Given the description of an element on the screen output the (x, y) to click on. 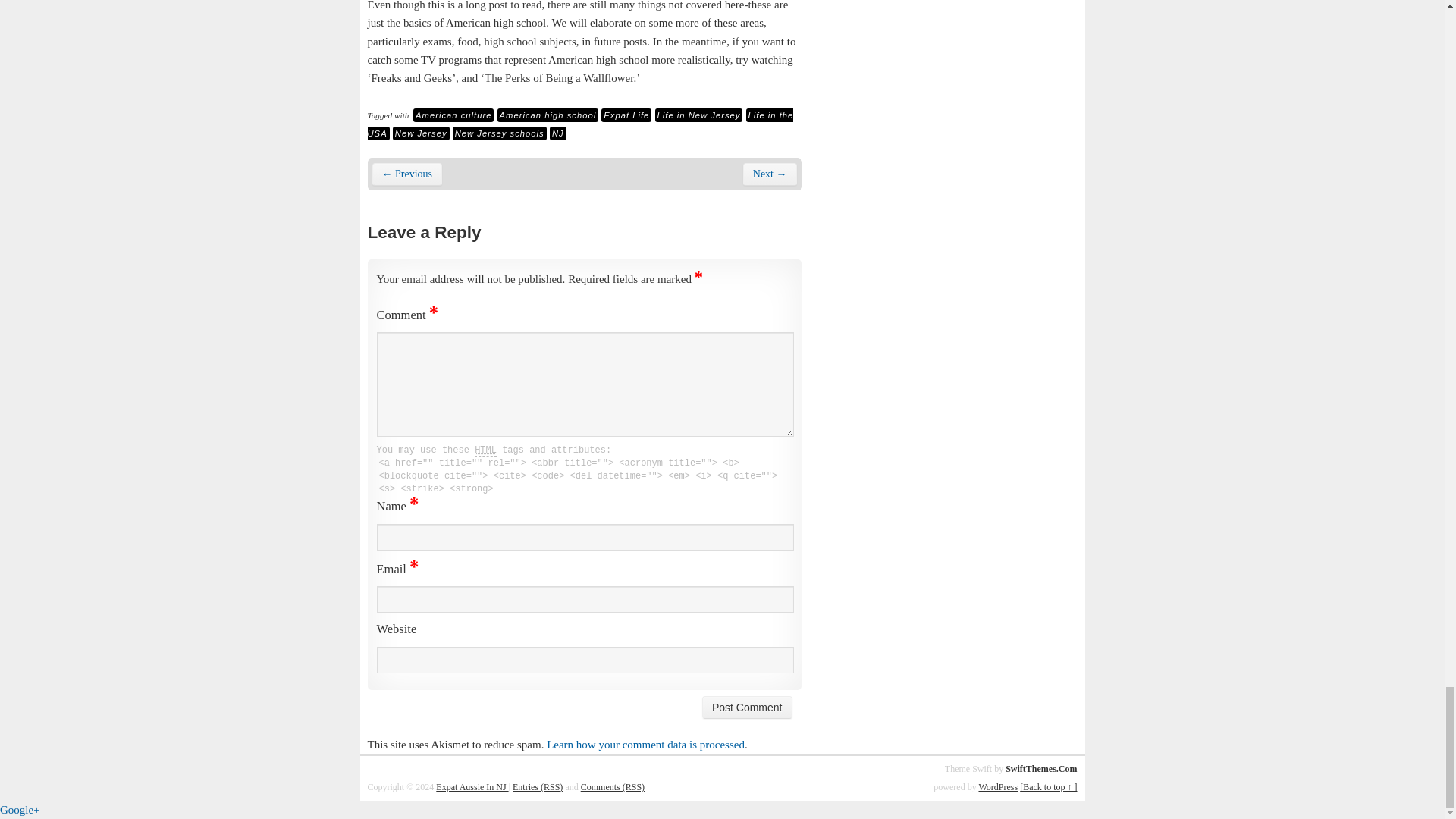
American high school (547, 115)
American culture (453, 115)
HyperText Markup Language (485, 450)
Life in the USA (579, 124)
Post Comment (746, 707)
Expat Life (625, 115)
An Expat Life in NJ Changes - Moving back (406, 173)
New Jersey (421, 133)
Life in New Jersey (698, 115)
New Jersey schools (499, 133)
